Given the description of an element on the screen output the (x, y) to click on. 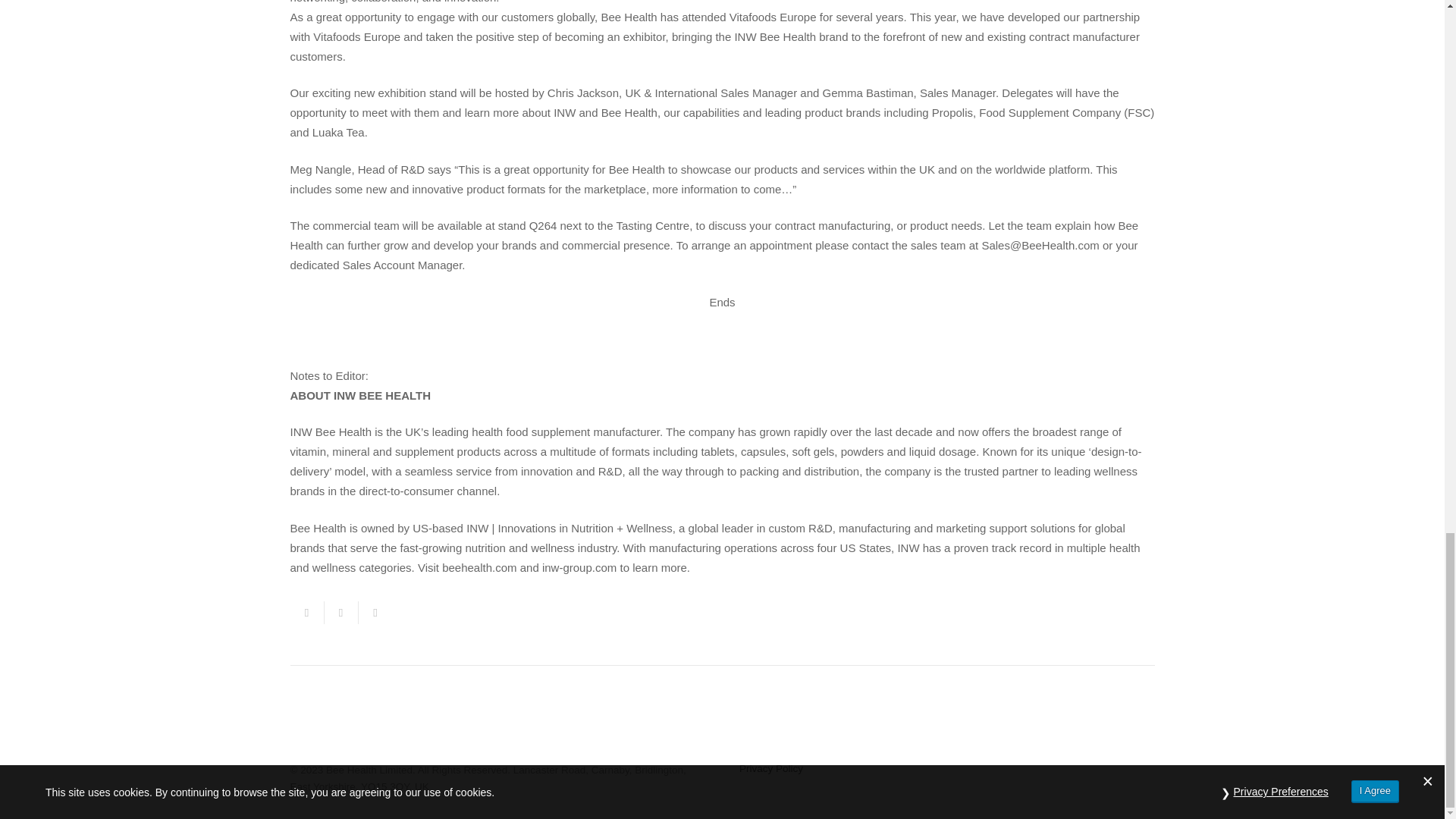
Tweet this (341, 612)
Privacy Policy (771, 767)
Share this (306, 612)
Share this (374, 612)
